Given the description of an element on the screen output the (x, y) to click on. 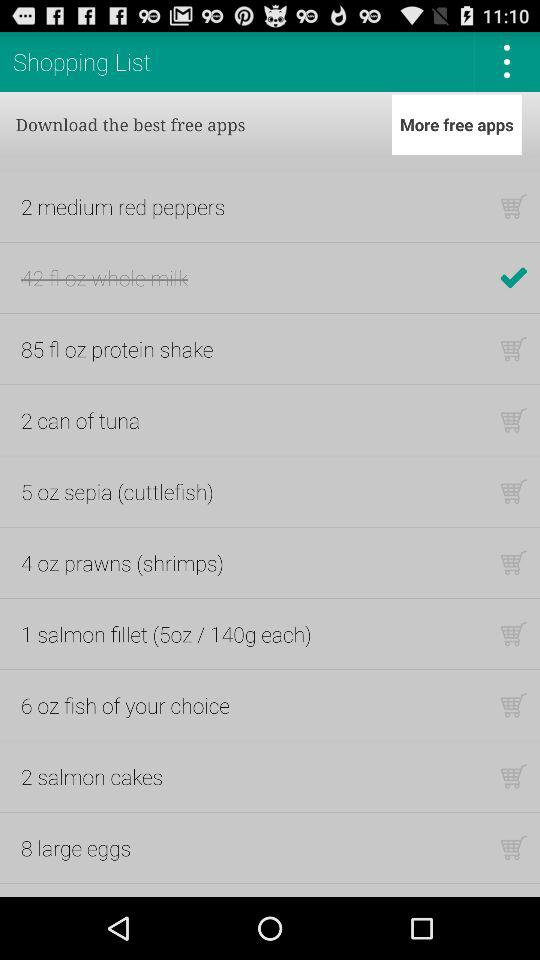
swipe to 2 can of (80, 420)
